Given the description of an element on the screen output the (x, y) to click on. 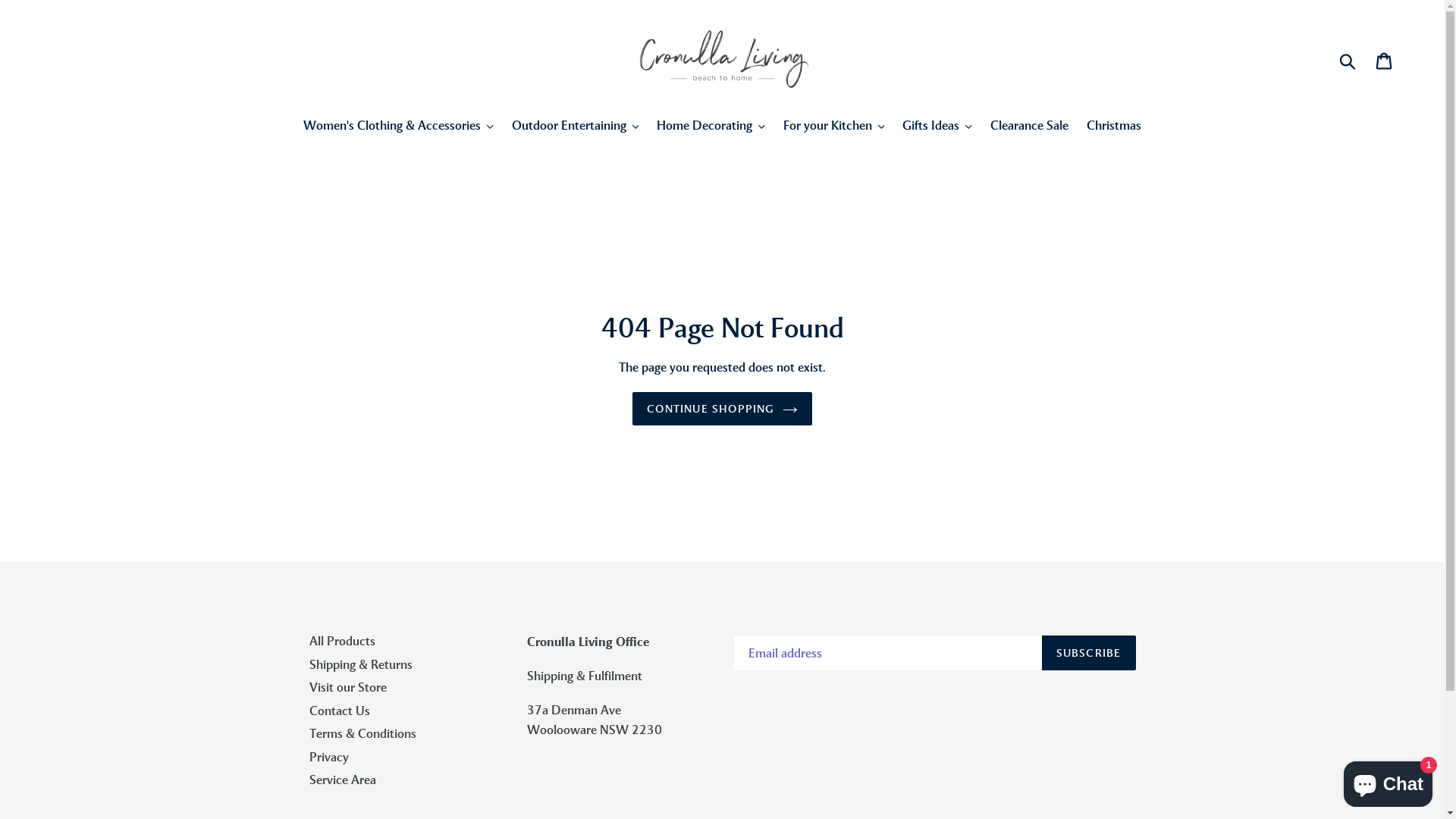
Contact Us Element type: text (339, 710)
Shipping & Returns Element type: text (360, 663)
CONTINUE SHOPPING Element type: text (721, 409)
Christmas Element type: text (1113, 127)
Visit our Store Element type: text (347, 686)
Terms & Conditions Element type: text (362, 732)
Clearance Sale Element type: text (1029, 127)
All Products Element type: text (342, 640)
Cart Element type: text (1384, 59)
Privacy Element type: text (328, 756)
Shopify online store chat Element type: hover (1388, 780)
Service Area Element type: text (342, 779)
Submit Element type: text (1348, 59)
SUBSCRIBE Element type: text (1088, 652)
